Given the description of an element on the screen output the (x, y) to click on. 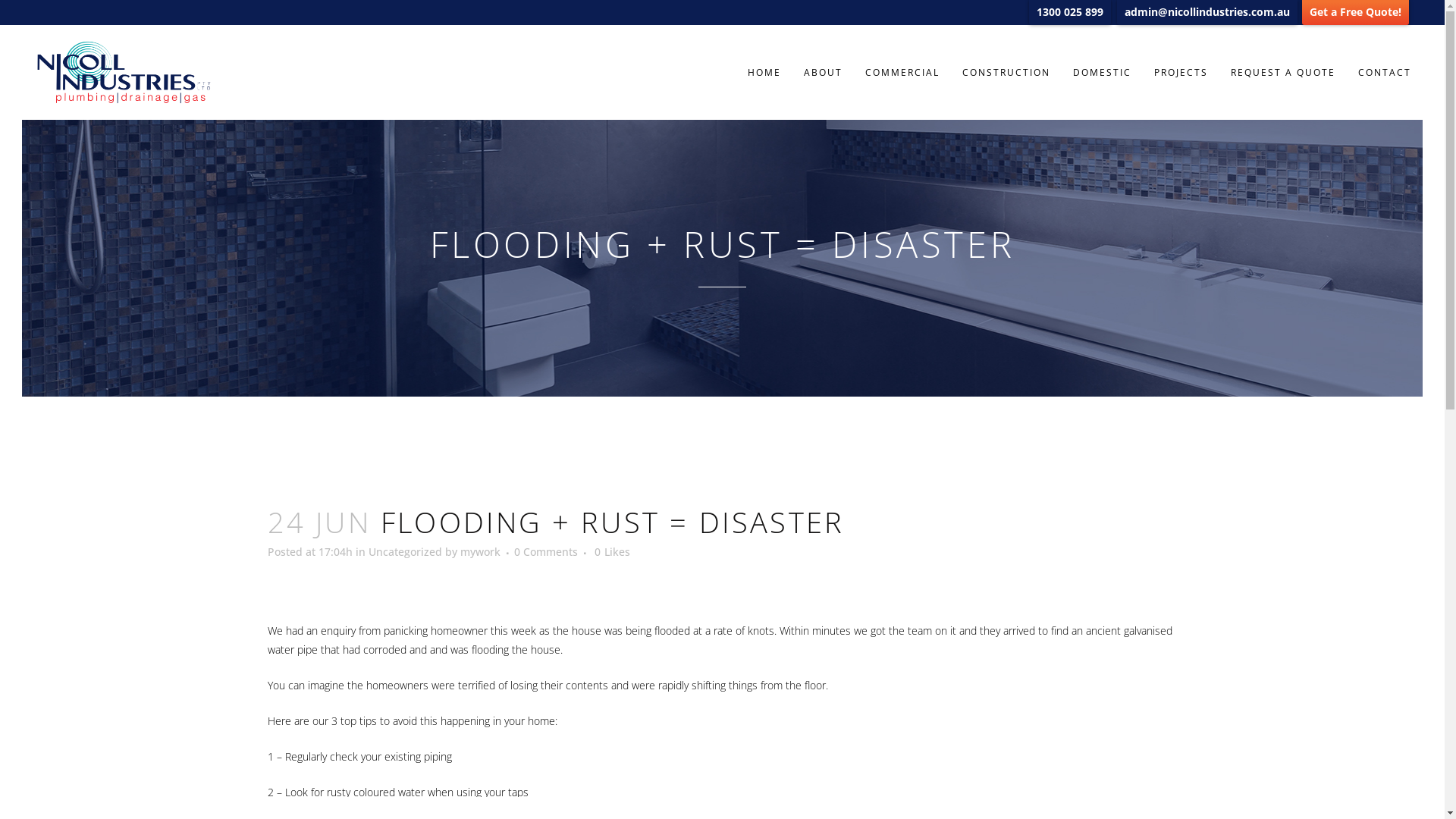
0 Comments Element type: text (545, 551)
PROJECTS Element type: text (1180, 72)
REQUEST A QUOTE Element type: text (1282, 72)
ABOUT Element type: text (822, 72)
COMMERCIAL Element type: text (901, 72)
1300 025 899 Element type: text (1069, 11)
0 Likes Element type: text (612, 551)
Uncategorized Element type: text (405, 551)
HOME Element type: text (764, 72)
DOMESTIC Element type: text (1101, 72)
mywork Element type: text (479, 551)
CONTACT Element type: text (1384, 72)
admin@nicollindustries.com.au Element type: text (1206, 11)
CONSTRUCTION Element type: text (1005, 72)
